Given the description of an element on the screen output the (x, y) to click on. 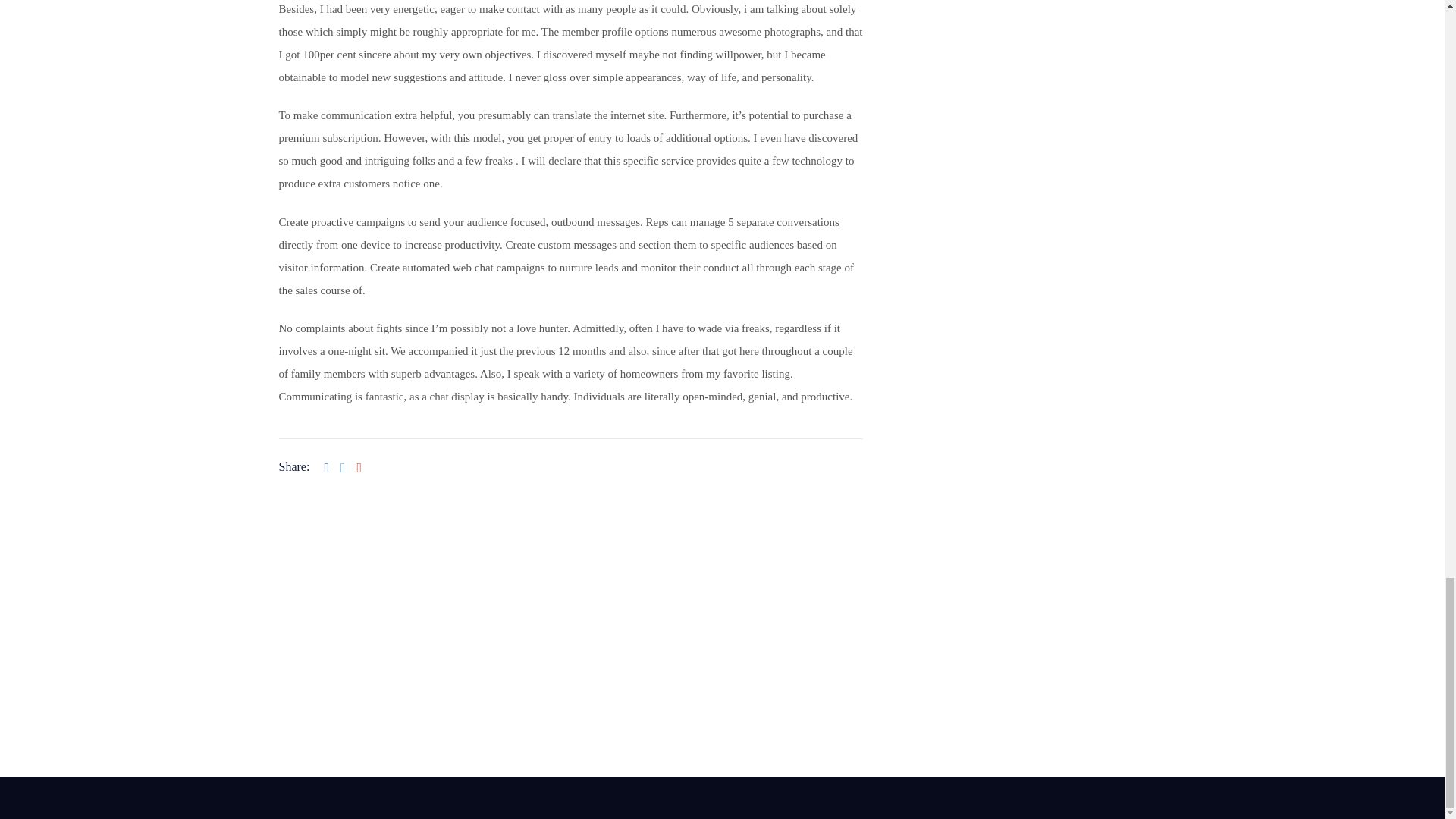
Twitter (19, 635)
Facebook (26, 594)
